Given the description of an element on the screen output the (x, y) to click on. 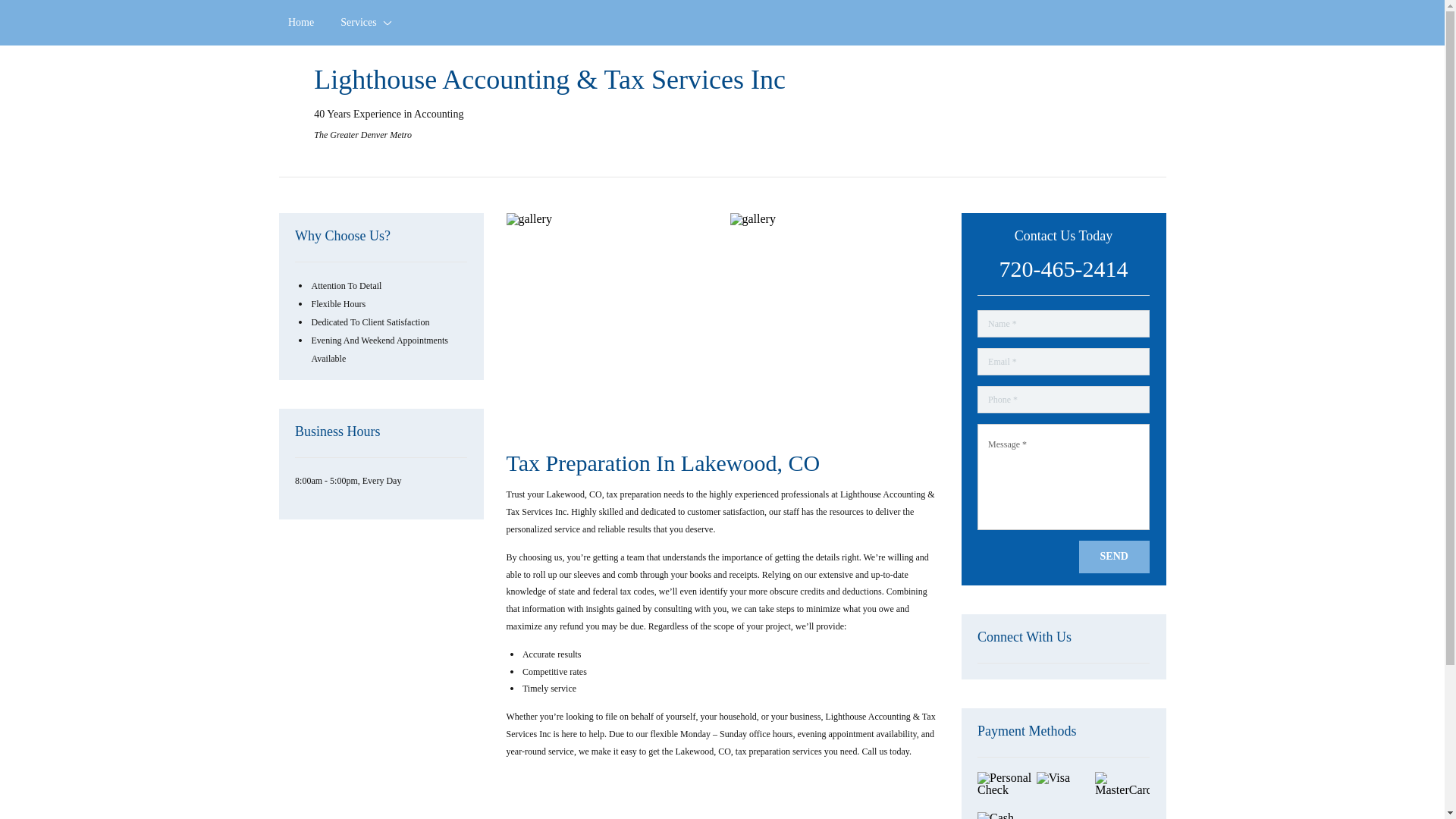
Services (364, 22)
MasterCard (1122, 790)
SEND (1114, 556)
Visa (1063, 790)
Personal Check (1004, 790)
Cash (1004, 815)
Home (301, 22)
